Given the description of an element on the screen output the (x, y) to click on. 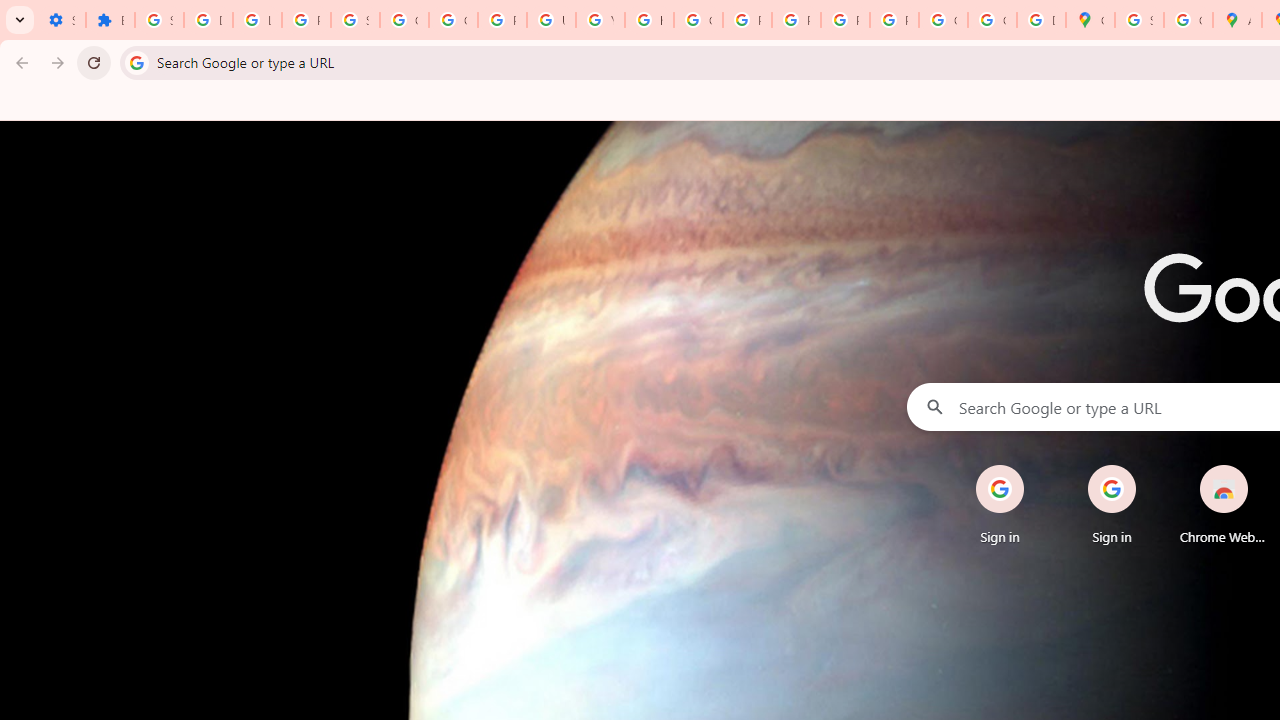
Sign in - Google Accounts (1138, 20)
Sign in - Google Accounts (355, 20)
Remove (1263, 466)
Google Maps (1090, 20)
Create your Google Account (1188, 20)
